Given the description of an element on the screen output the (x, y) to click on. 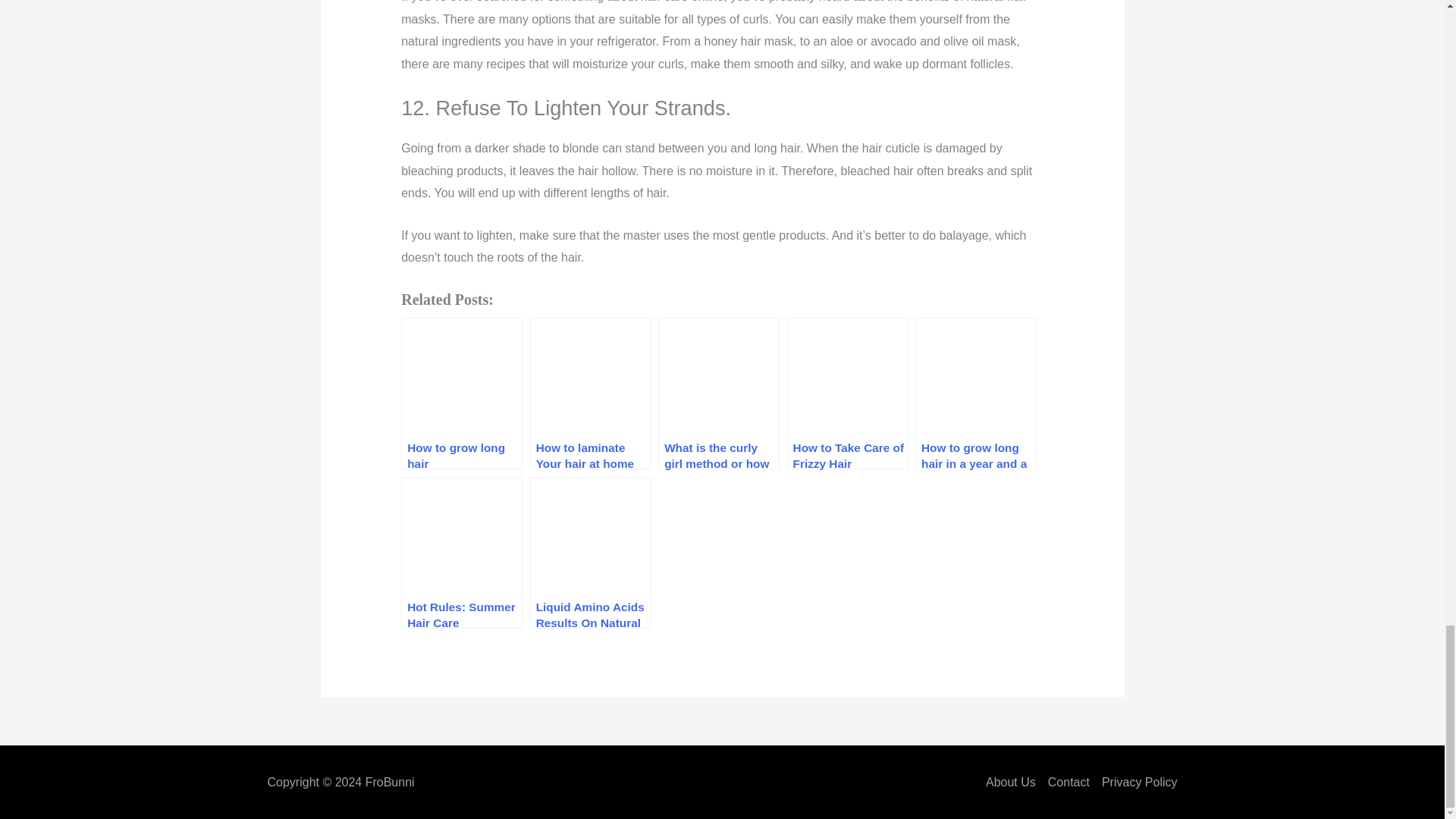
About Us (1013, 782)
